Given the description of an element on the screen output the (x, y) to click on. 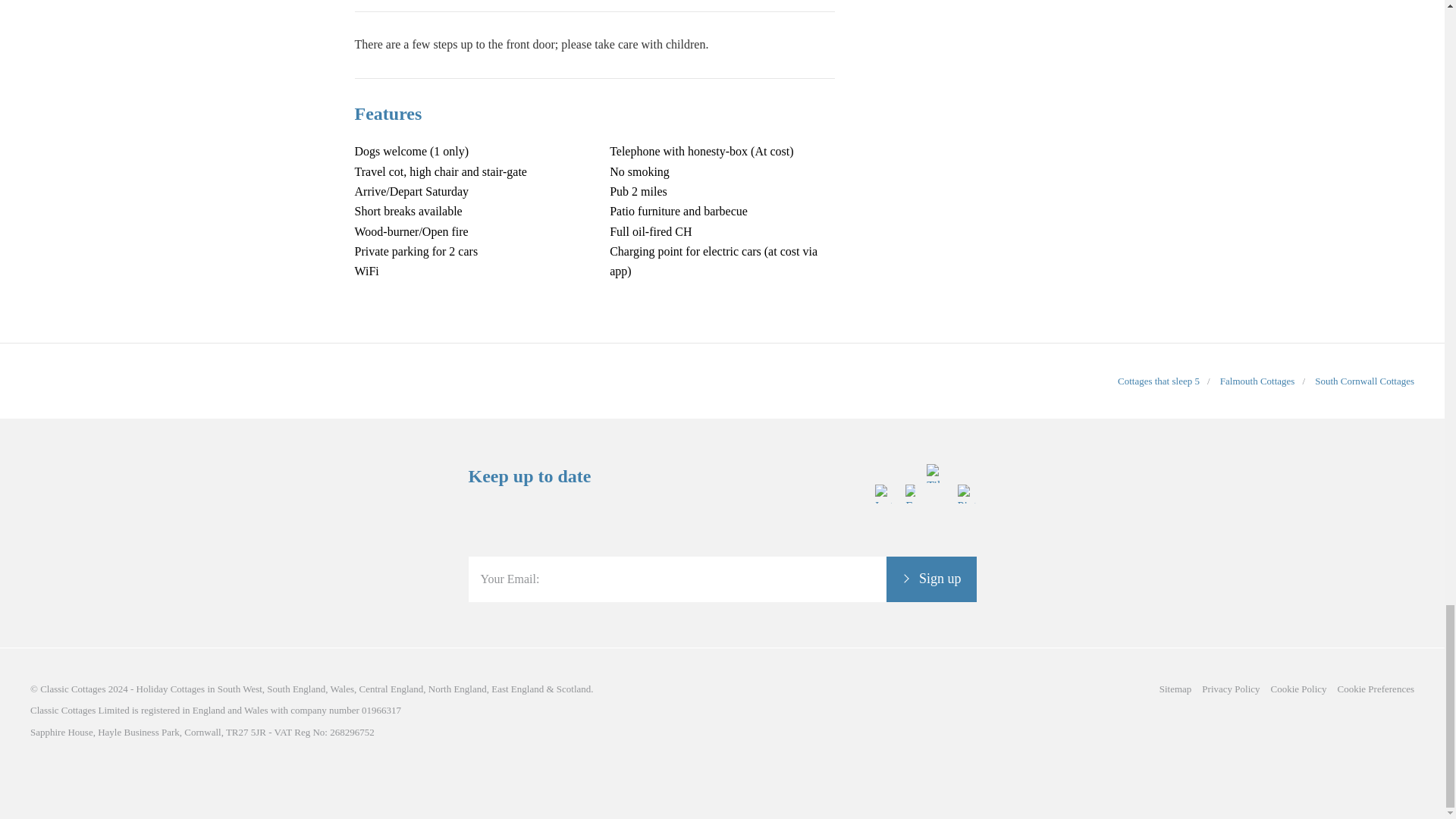
Follow Classic Cottages Tik Tok (935, 545)
Follow Classic Cottages Instagram (884, 545)
Follow Classic Cottages Pinterest (965, 545)
